Given the description of an element on the screen output the (x, y) to click on. 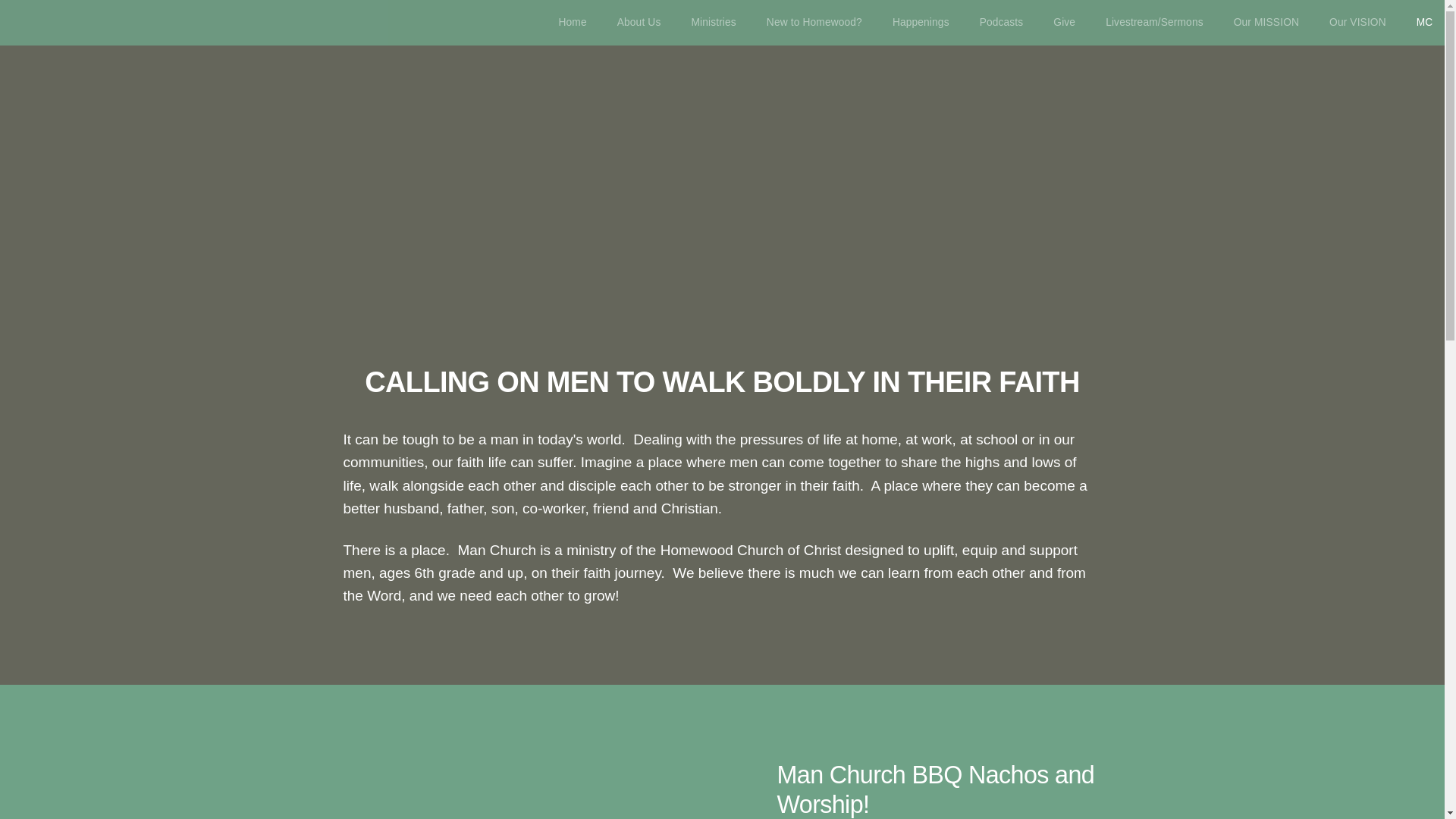
About Us (639, 22)
Home (572, 22)
Ministries (713, 22)
